Given the description of an element on the screen output the (x, y) to click on. 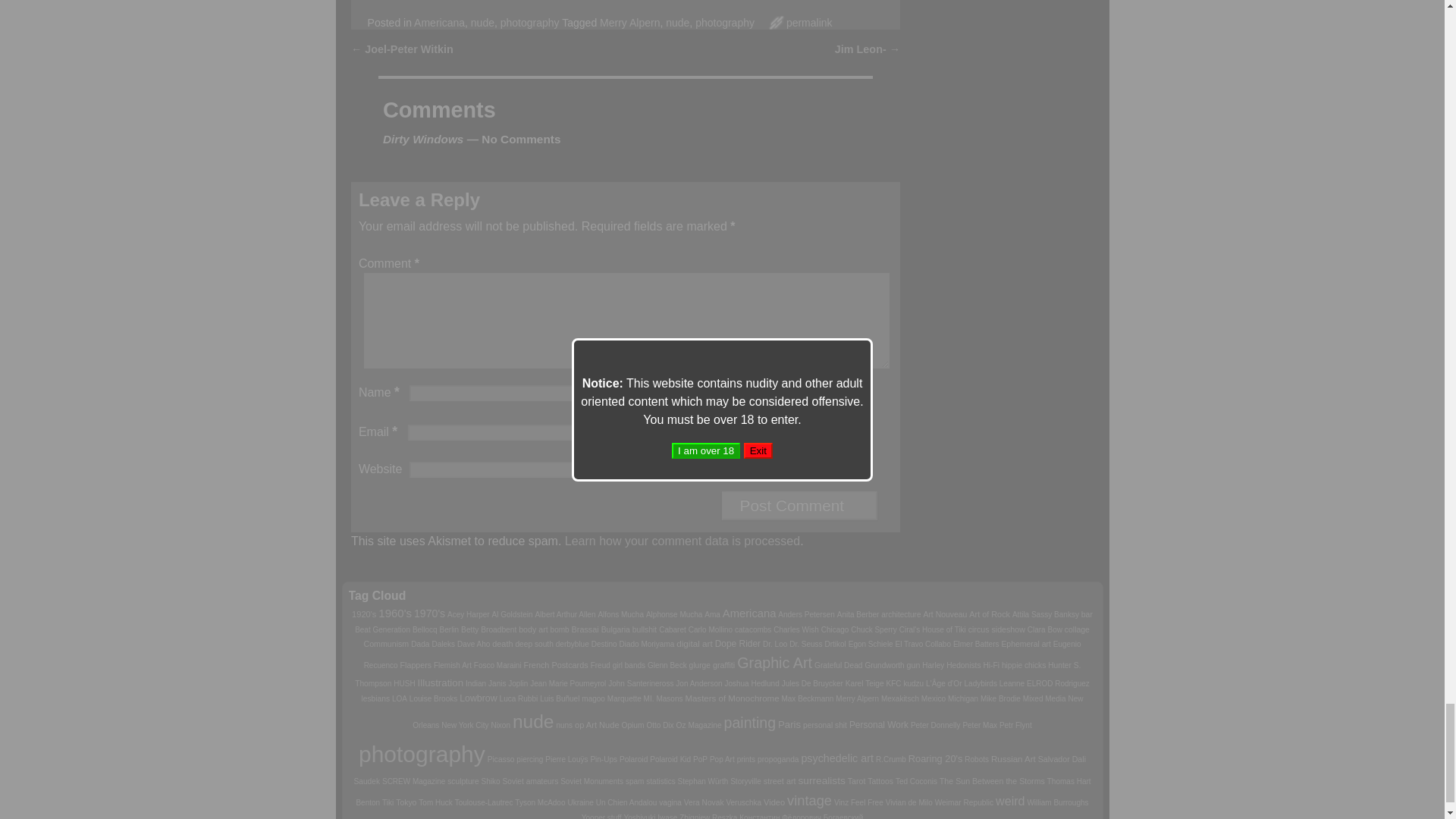
1 topic (619, 614)
1 topic (467, 614)
Permalink to Dirty Windows (809, 22)
Post Comment (799, 505)
24 topics (395, 612)
1 topic (564, 614)
6 topics (363, 614)
20 topics (429, 613)
1 topic (512, 614)
